Given the description of an element on the screen output the (x, y) to click on. 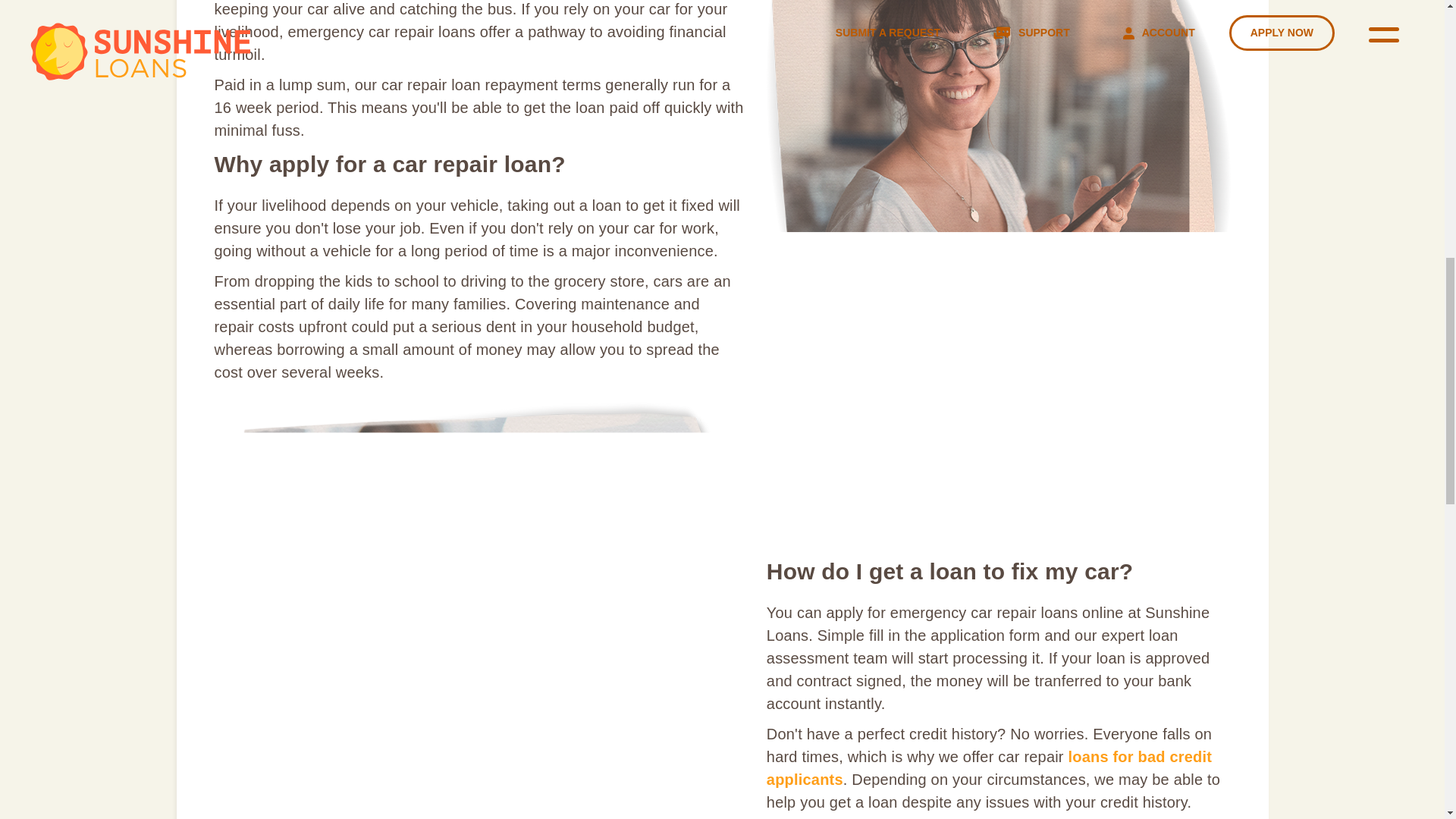
loans for bad credit applicants (989, 767)
